Given the description of an element on the screen output the (x, y) to click on. 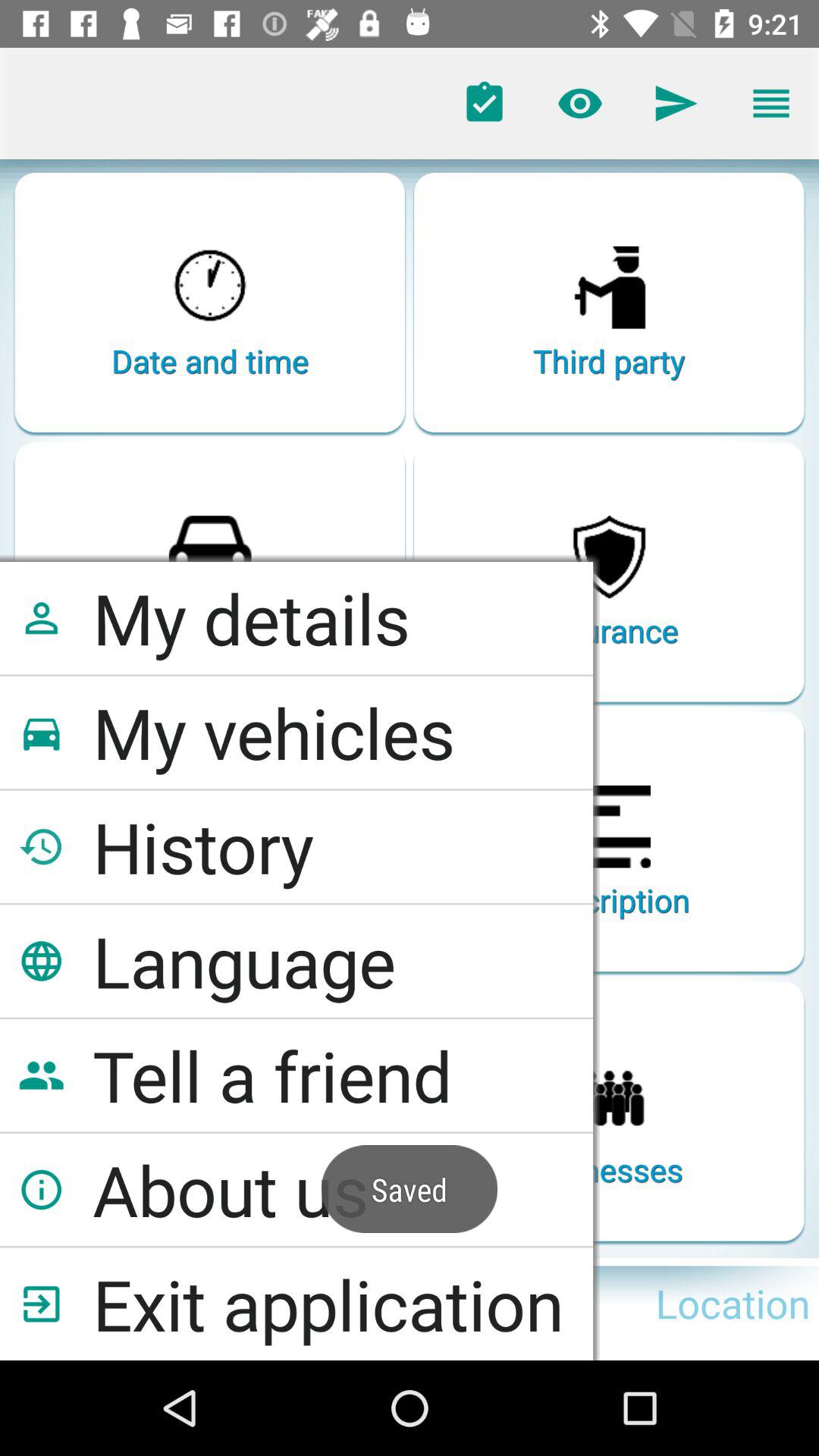
select the symbol which is immediately above my details (209, 547)
select the view button on page (580, 103)
